Given the description of an element on the screen output the (x, y) to click on. 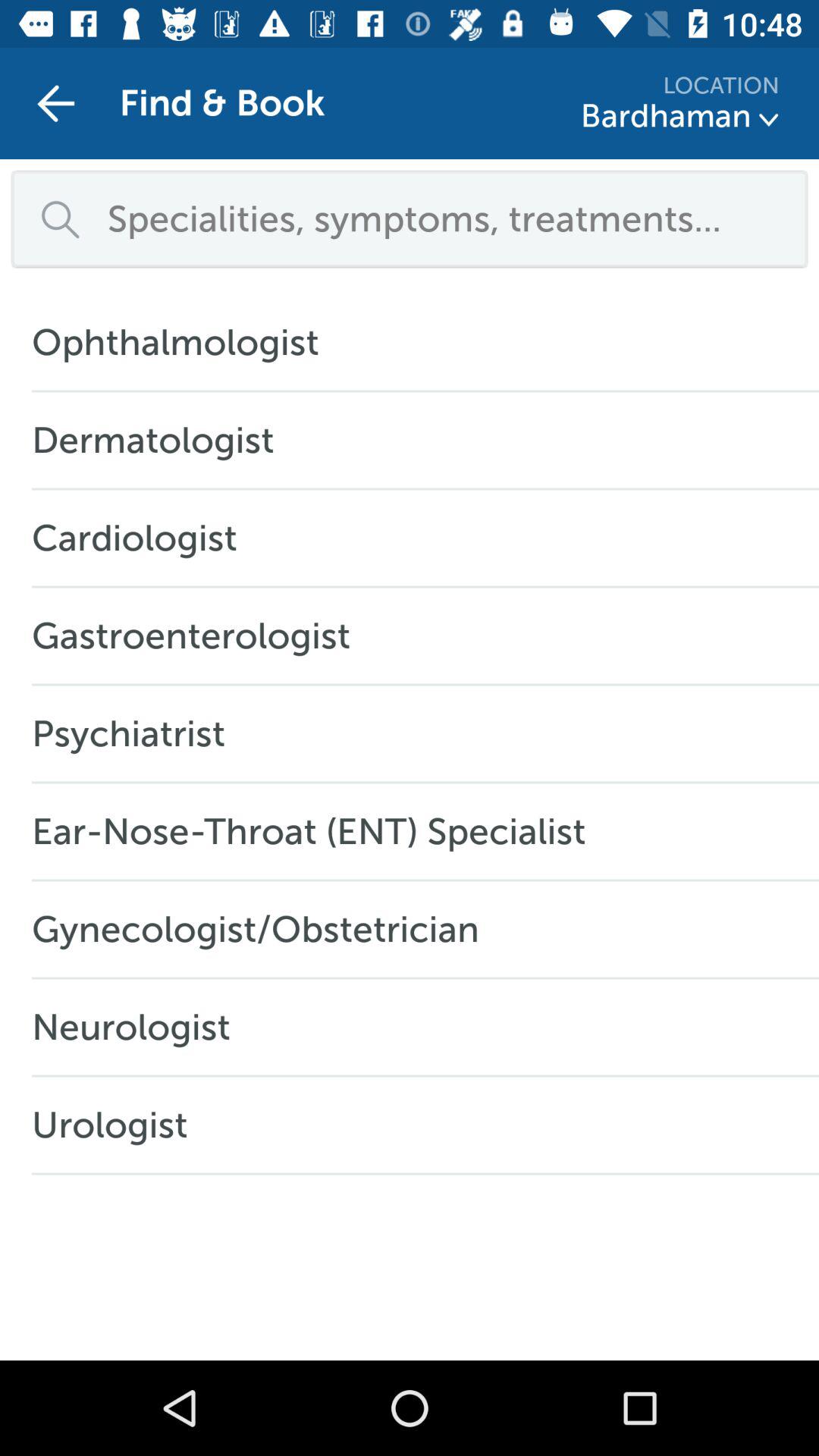
click icon above cardiologist icon (160, 439)
